Given the description of an element on the screen output the (x, y) to click on. 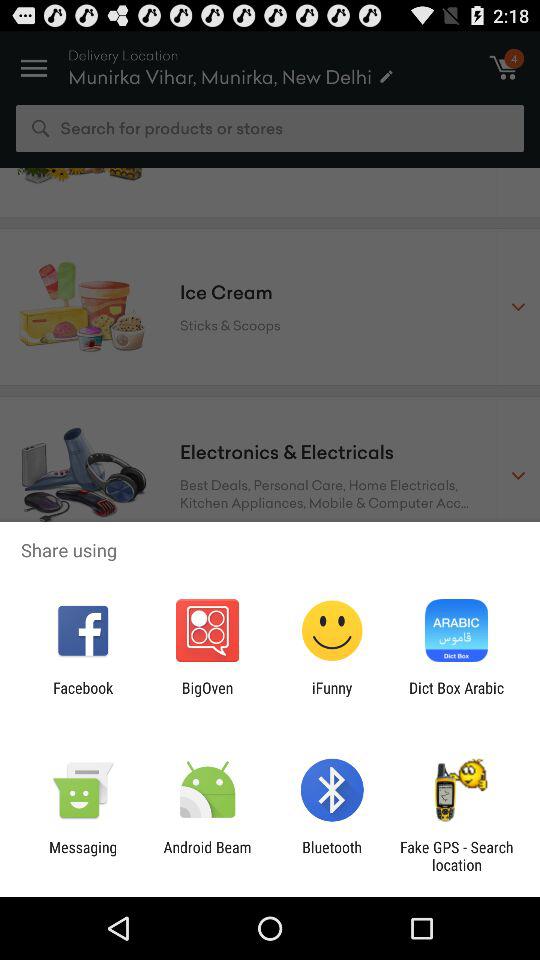
select the app to the left of the android beam icon (83, 856)
